Given the description of an element on the screen output the (x, y) to click on. 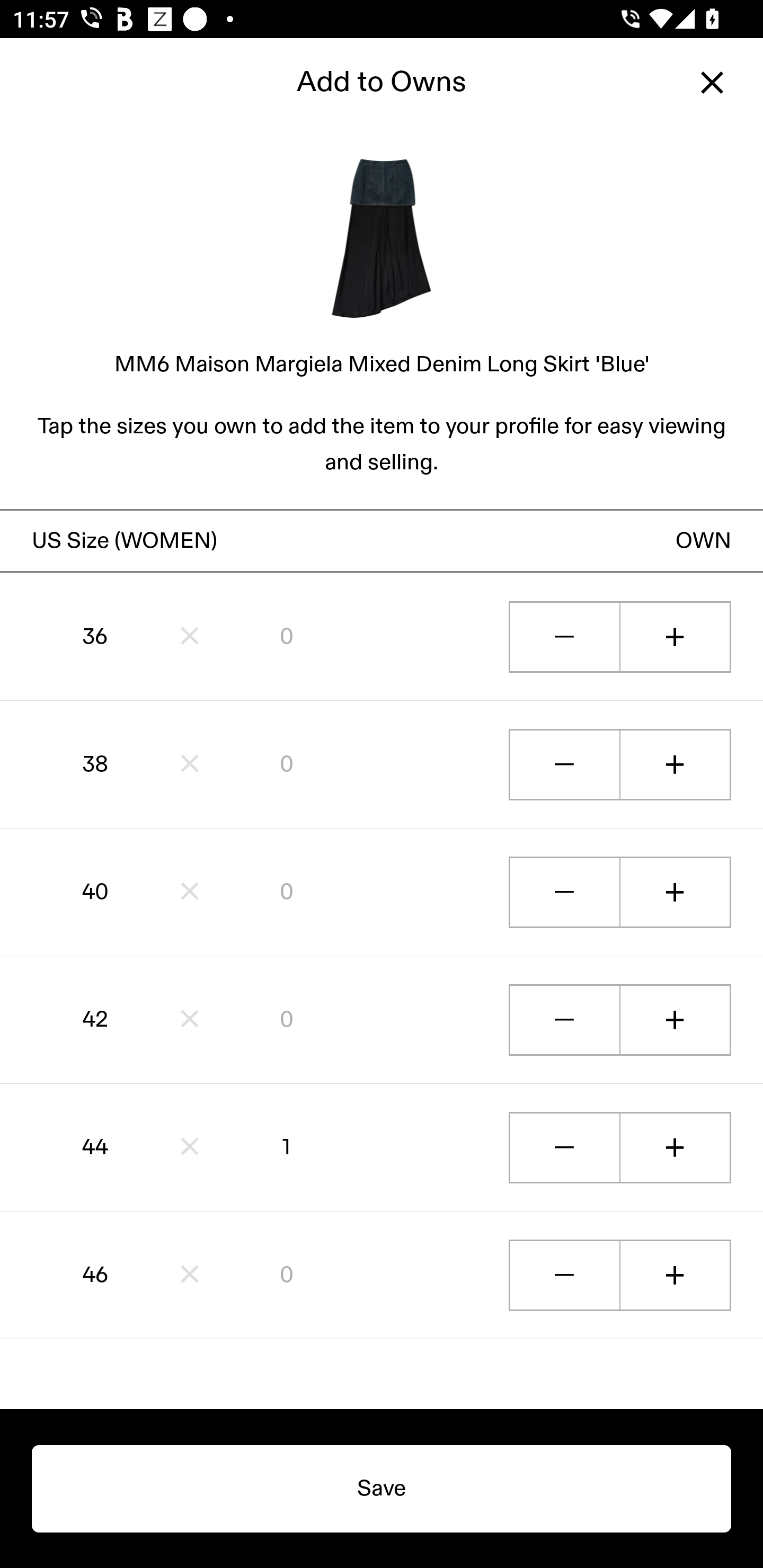
Save (381, 1488)
